Given the description of an element on the screen output the (x, y) to click on. 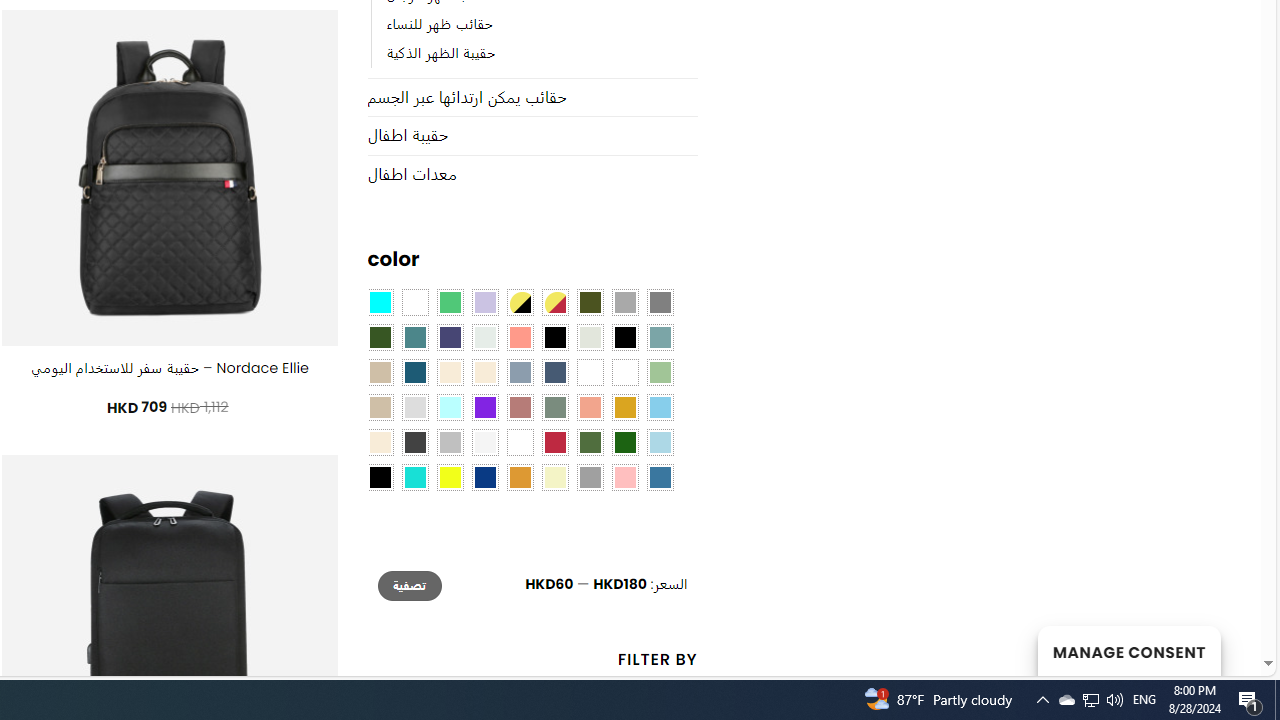
Clear (414, 303)
Mint (449, 408)
Light-Gray (414, 408)
Teal (414, 337)
Sage (554, 408)
